Given the description of an element on the screen output the (x, y) to click on. 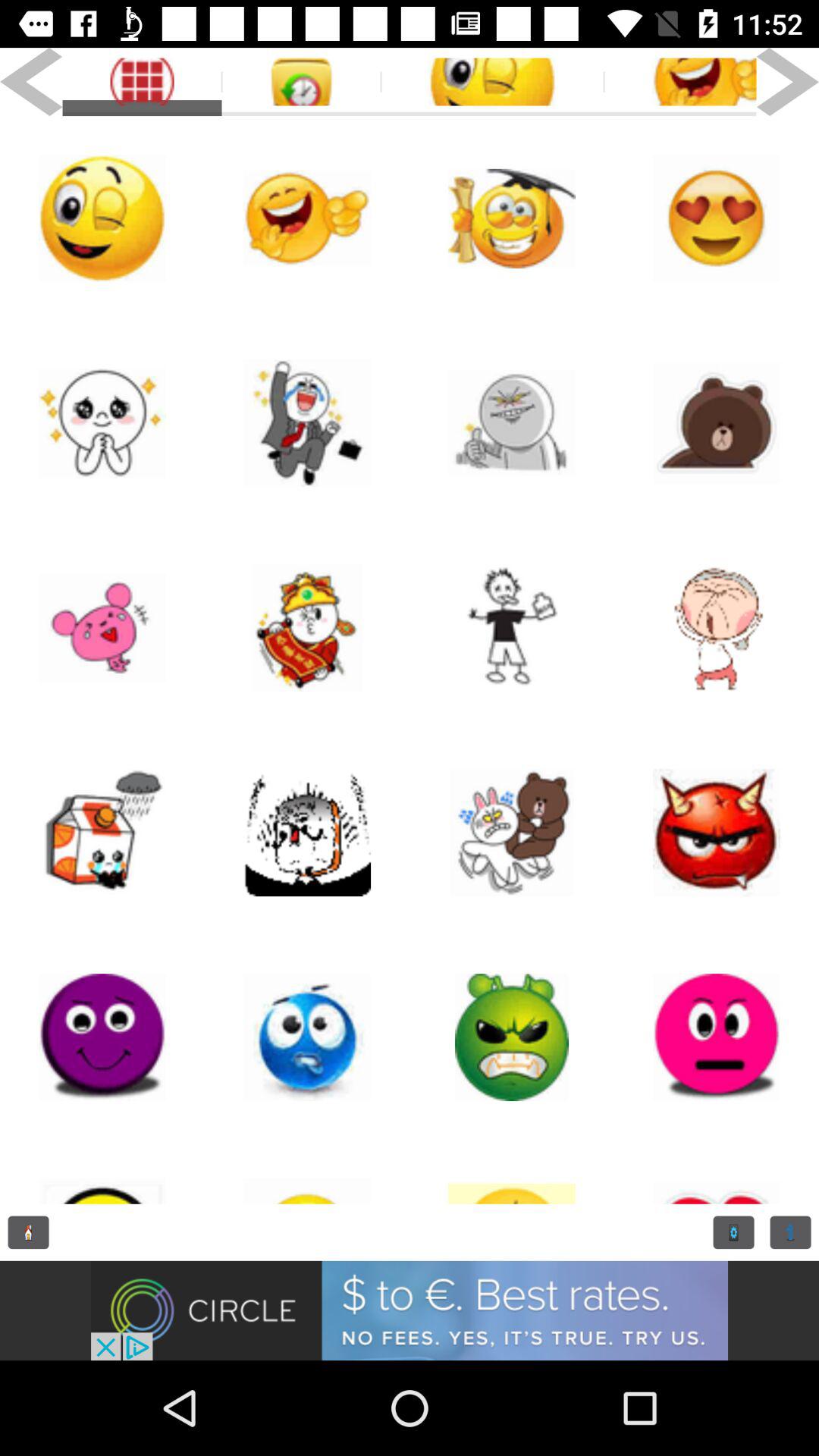
select this icon (511, 1171)
